Given the description of an element on the screen output the (x, y) to click on. 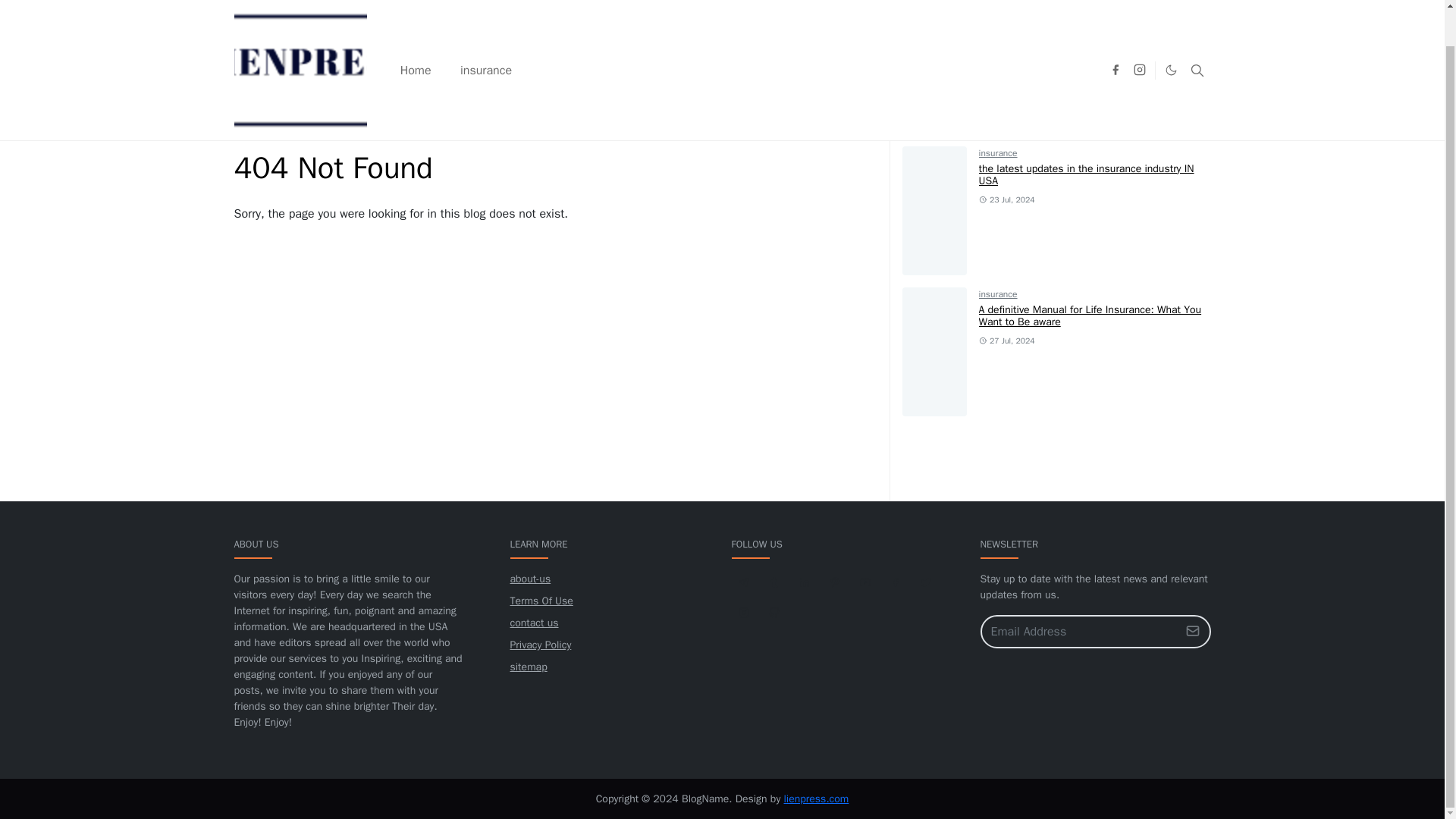
Home (415, 31)
insurance (485, 31)
sitemap (528, 666)
Terms Of Use (540, 600)
about-us (529, 578)
Home (246, 129)
insurance (997, 152)
Privacy Policy (539, 644)
insurance (997, 294)
lienpress.com (815, 798)
Home (246, 129)
the latest updates in the insurance industry IN USA (1085, 175)
contact us (533, 622)
